Given the description of an element on the screen output the (x, y) to click on. 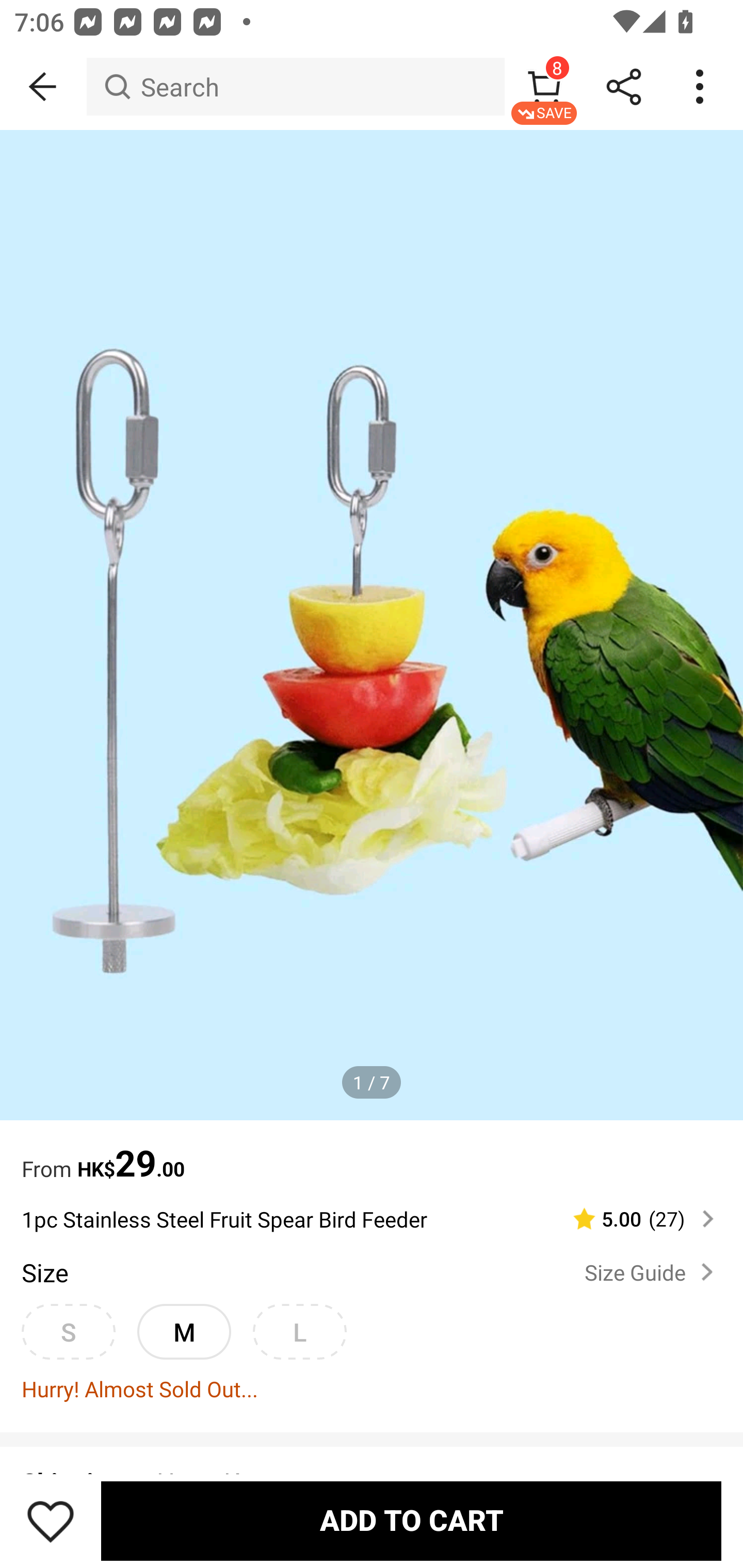
BACK (43, 86)
8 SAVE (543, 87)
Search (295, 87)
1 / 7 (371, 1082)
From  HK$29.00 (371, 1152)
5.00 (27) (635, 1219)
Size (44, 1271)
Size Guide (652, 1272)
S (68, 1331)
M Munselected option (184, 1331)
L (299, 1331)
Hurry! Almost Sold Out... (371, 1388)
ADD TO CART (411, 1520)
Save (50, 1520)
